Given the description of an element on the screen output the (x, y) to click on. 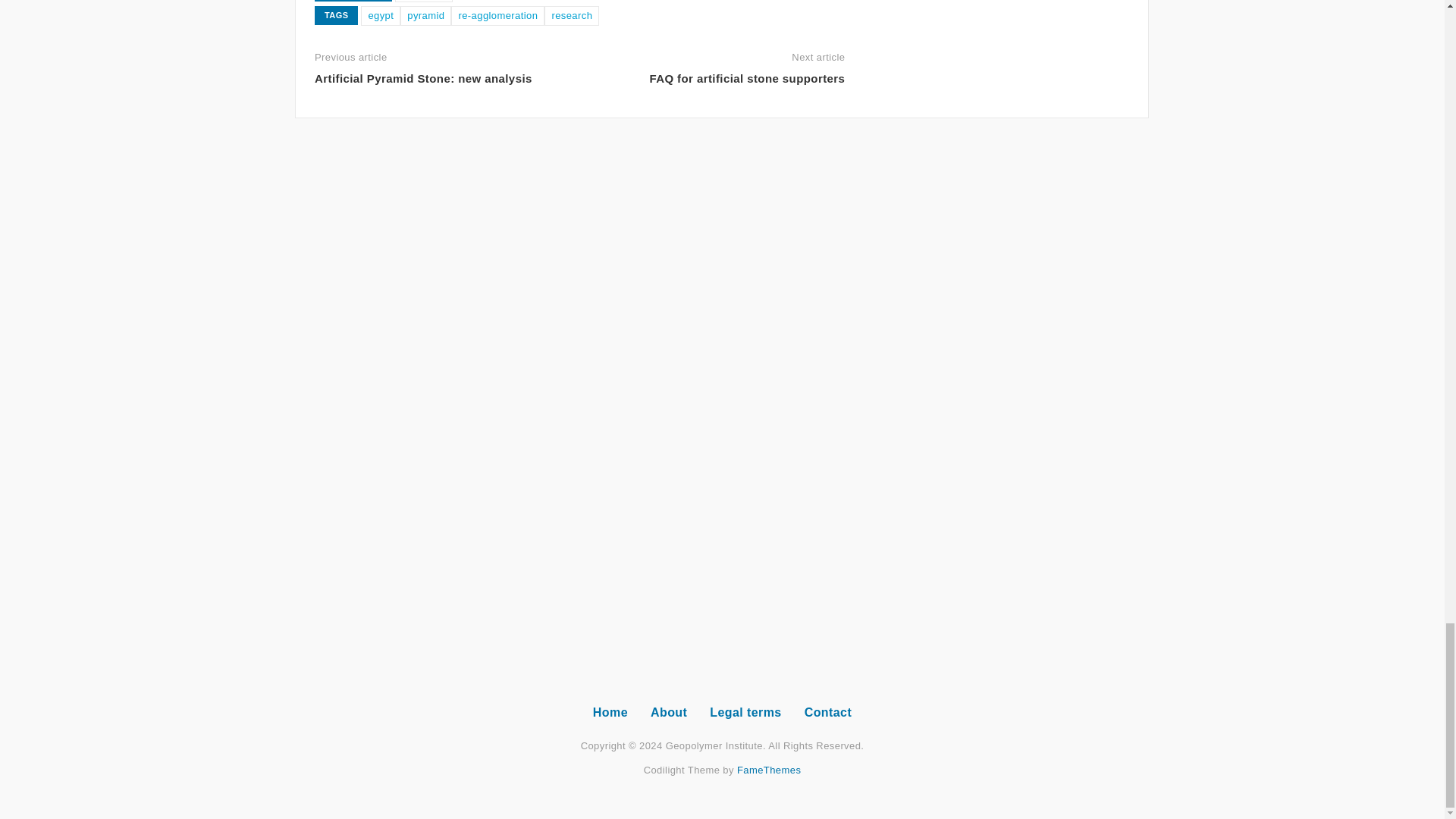
Pyramids (423, 1)
egypt (380, 15)
